Given the description of an element on the screen output the (x, y) to click on. 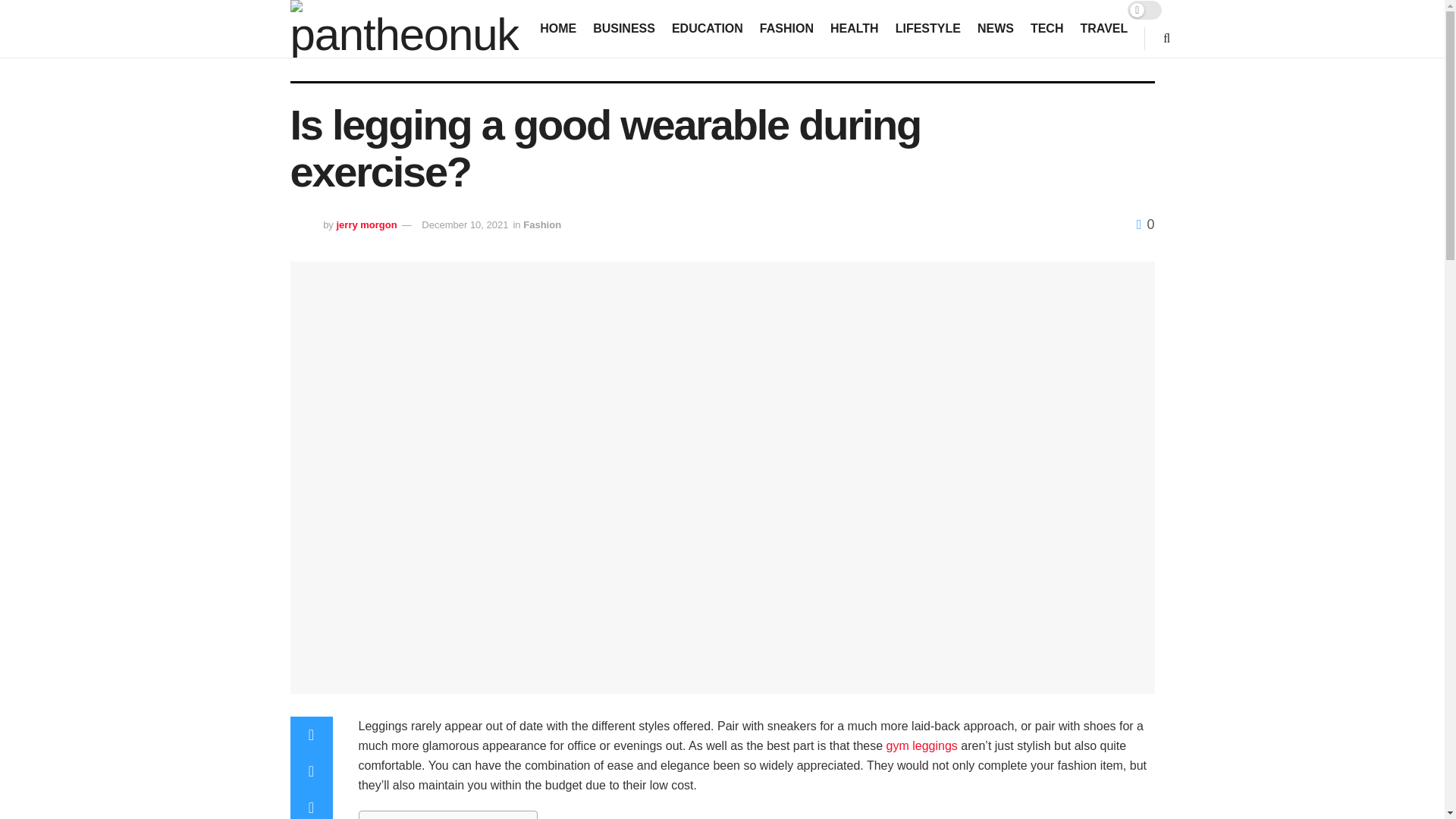
HEALTH (854, 28)
December 10, 2021 (465, 224)
TECH (1047, 28)
LIFESTYLE (927, 28)
BUSINESS (623, 28)
gym leggings (922, 745)
Fashion (541, 224)
FASHION (786, 28)
NEWS (994, 28)
HOME (558, 28)
TRAVEL (1103, 28)
jerry morgon (366, 224)
0 (1145, 224)
EDUCATION (706, 28)
